Given the description of an element on the screen output the (x, y) to click on. 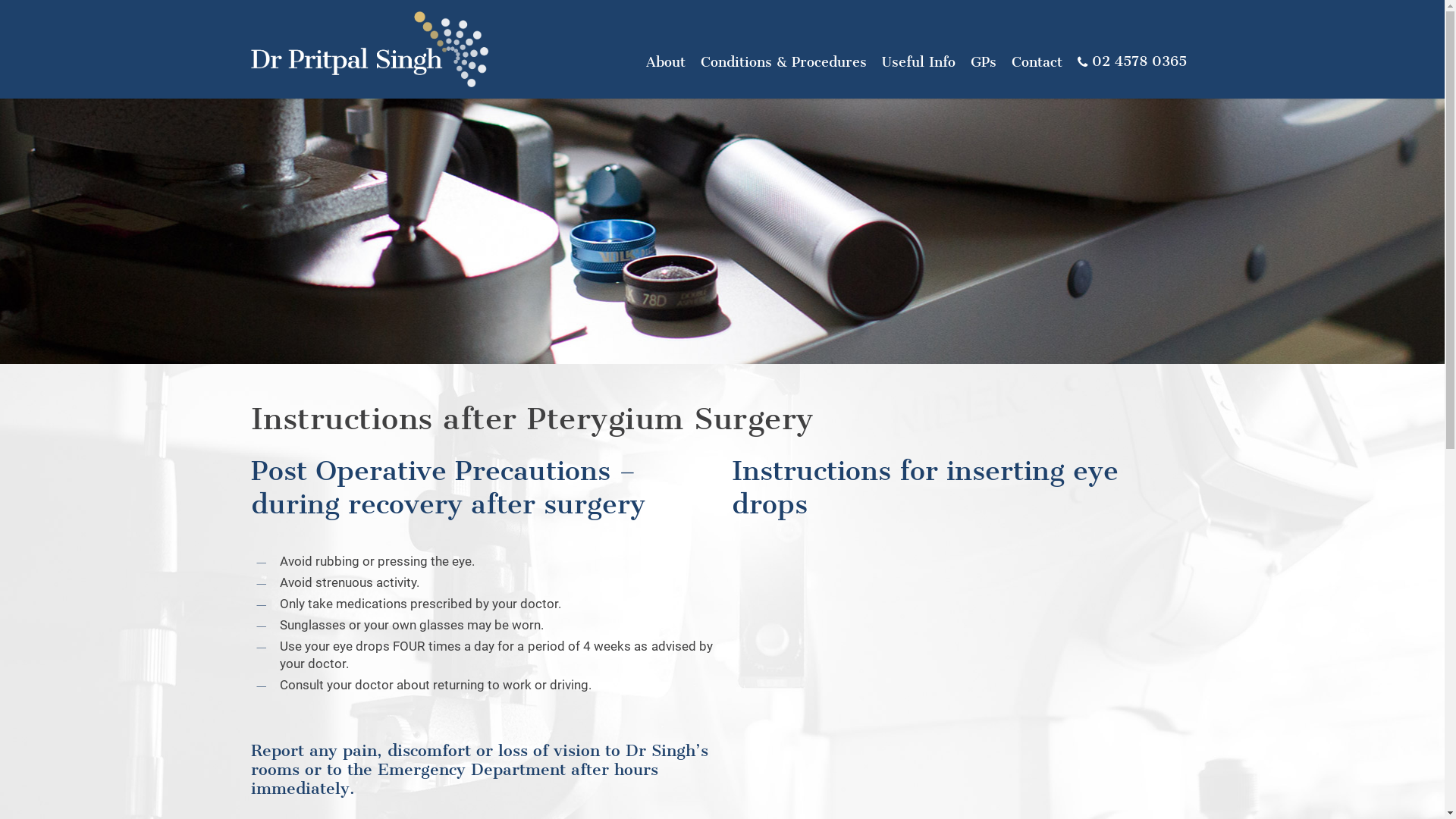
Conditions & Procedures Element type: text (783, 62)
Useful Info Element type: text (918, 62)
About Element type: text (665, 62)
Contact Element type: text (1037, 62)
02 4578 0365 Element type: text (1132, 61)
GPs Element type: text (983, 62)
